Given the description of an element on the screen output the (x, y) to click on. 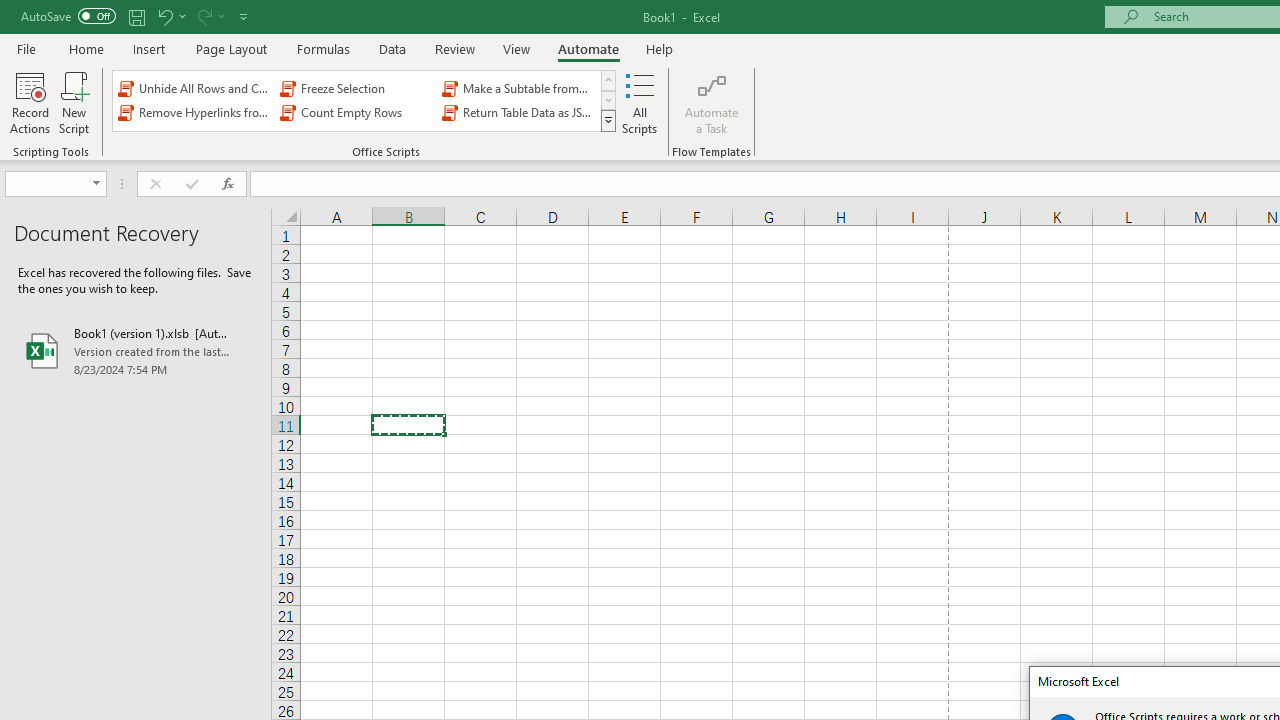
Row Down (608, 100)
File Tab (26, 48)
Home (86, 48)
Automate a Task (712, 102)
Help (660, 48)
Remove Hyperlinks from Sheet (194, 112)
Office Scripts (608, 120)
AutoSave (68, 16)
More Options (222, 15)
Record Actions (29, 102)
Open (96, 183)
Count Empty Rows (356, 112)
